Given the description of an element on the screen output the (x, y) to click on. 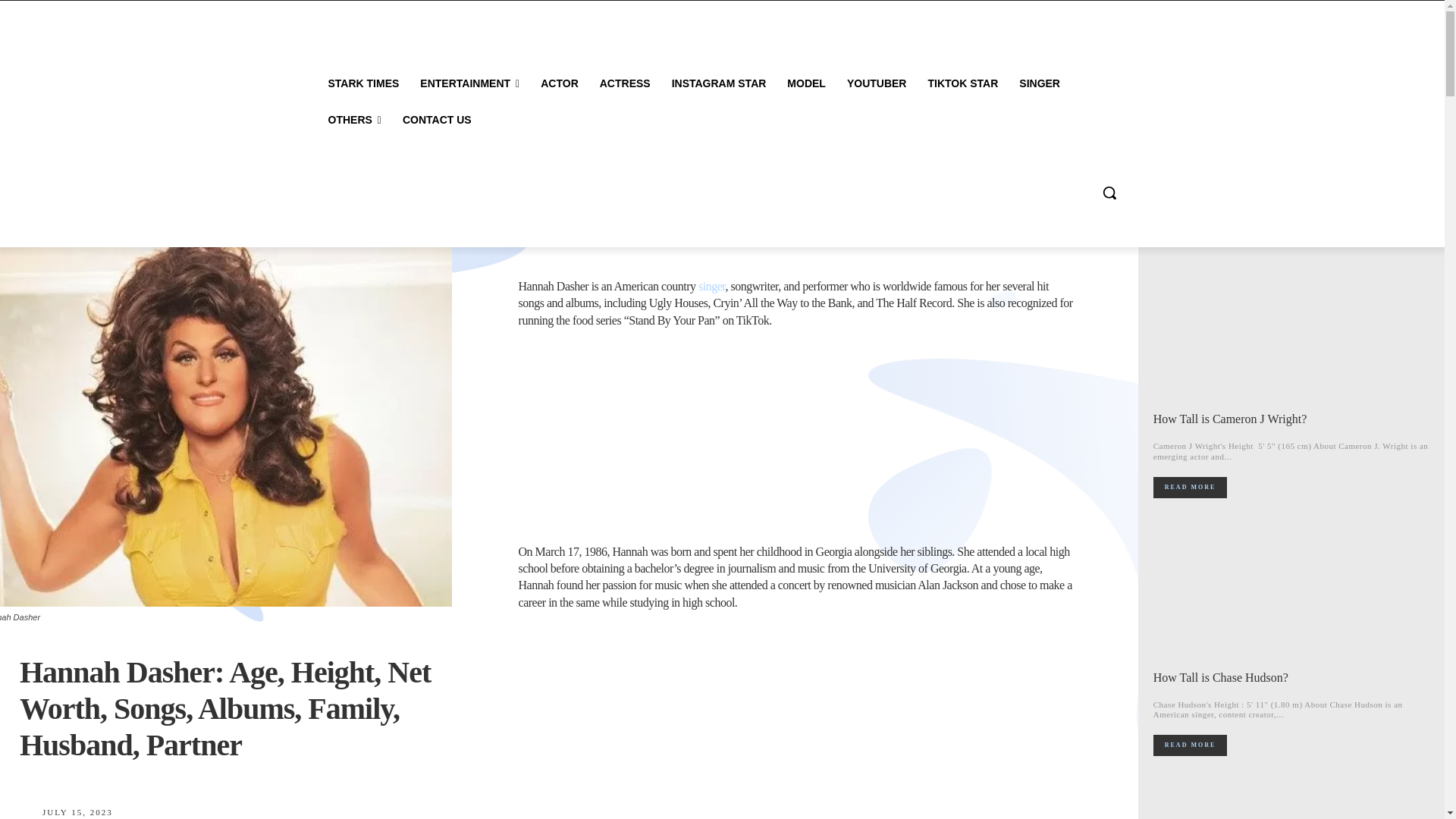
How Tall is Chase Hudson? (1220, 676)
How Tall is Cameron J Wright? (1292, 332)
STARK TIMES (363, 83)
ENTERTAINMENT (469, 83)
Read more (1190, 486)
How Tall is Chase Hudson? (1292, 590)
How Tall is Cameron J Wright? (1230, 418)
